Given the description of an element on the screen output the (x, y) to click on. 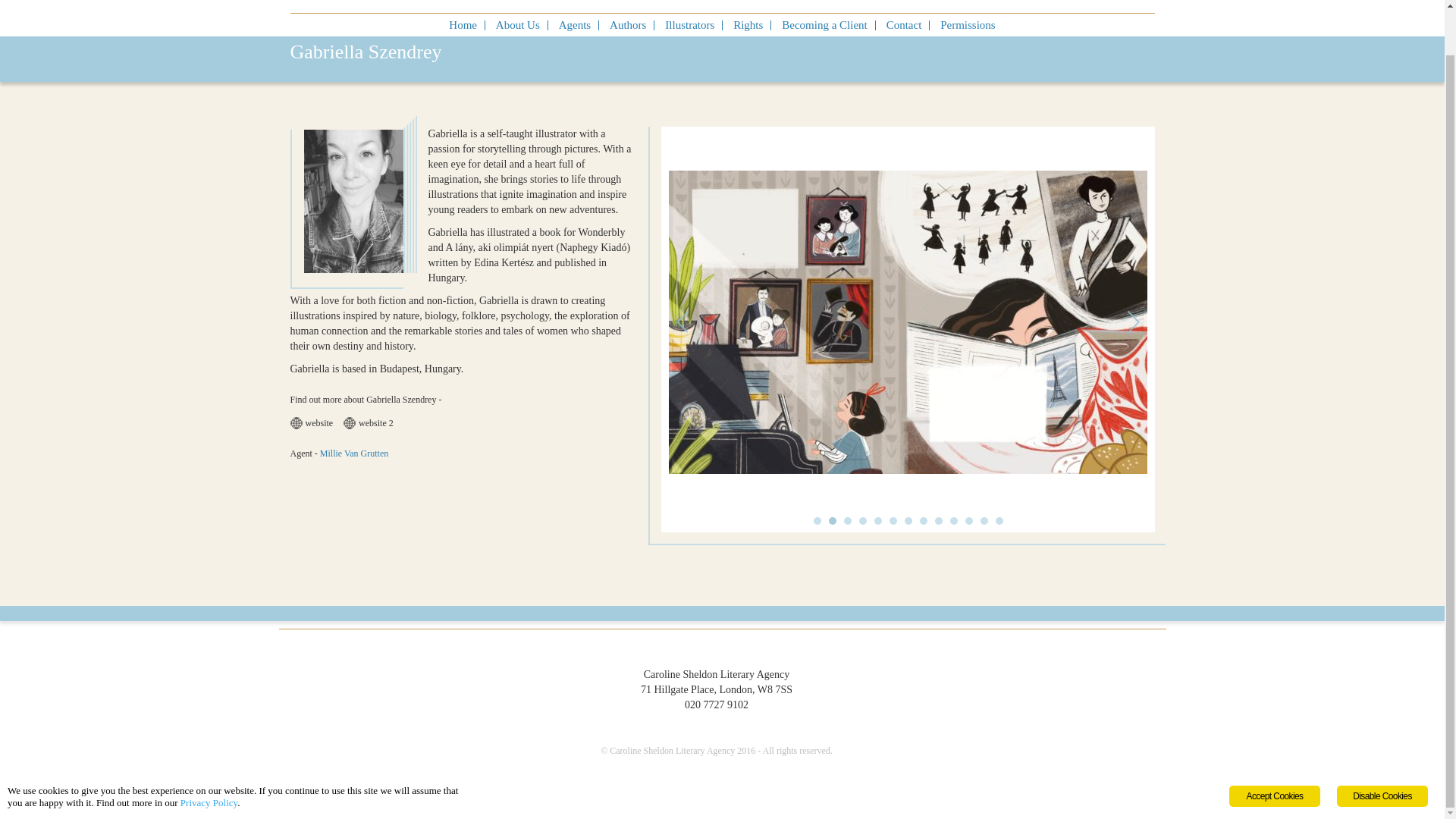
Disable Cookies (1382, 748)
About Us (518, 24)
website 2 (372, 422)
Illustrators (689, 24)
Becoming a Client (823, 24)
Terms (696, 803)
Millie Van Grutten (358, 452)
Privacy Policy (208, 754)
Authors (628, 24)
Accept Cookies (1274, 748)
Home (462, 24)
Contact (903, 24)
Rights (747, 24)
Privacy (669, 803)
website (314, 422)
